Given the description of an element on the screen output the (x, y) to click on. 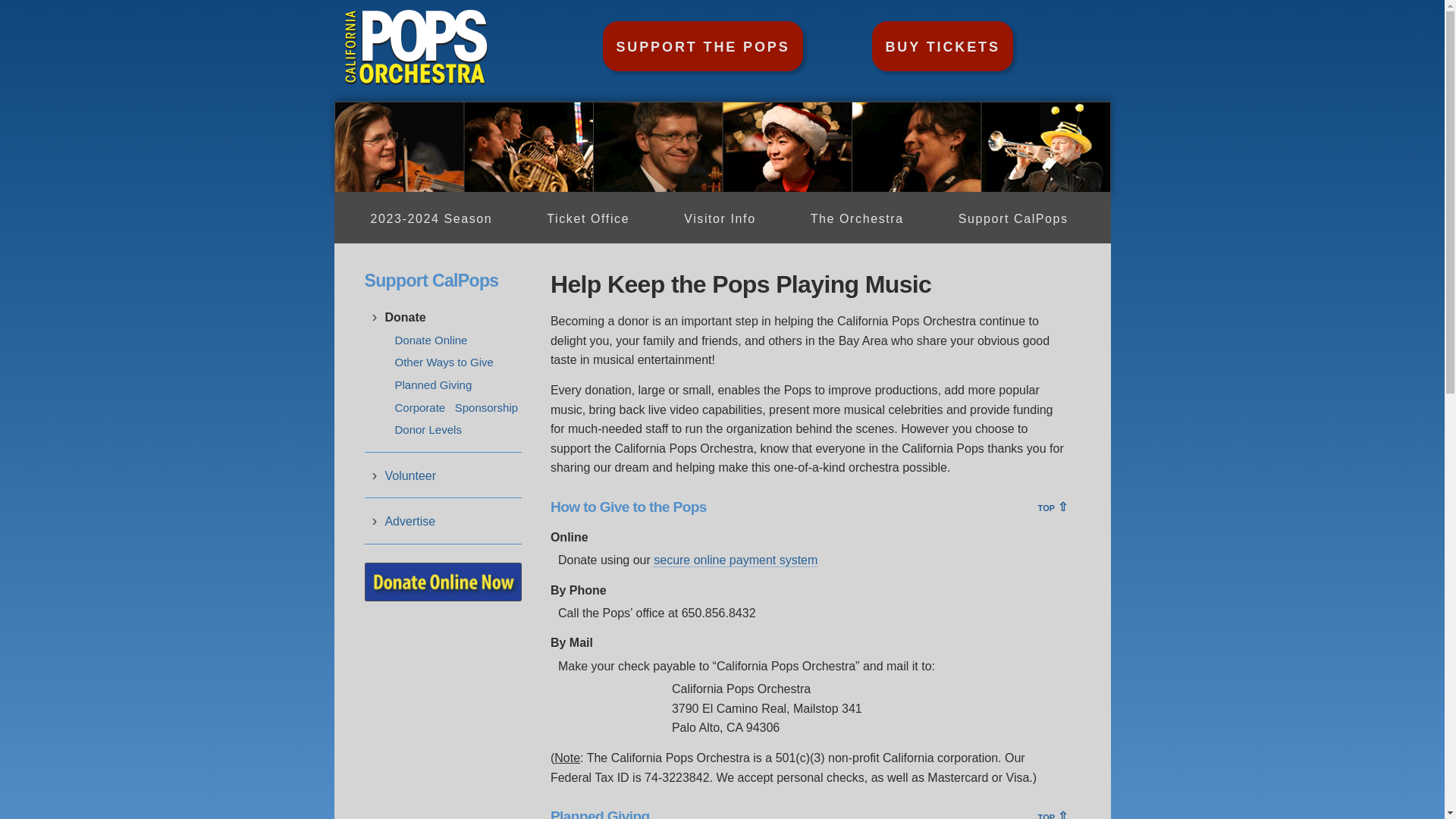
Ticket Office (587, 218)
Advertise (409, 521)
Planned Giving (432, 385)
This link opens a new browser window (734, 560)
Other Ways to Give (443, 362)
Donate Online (430, 340)
SUPPORT THE POPS (702, 46)
2023-2024 Season (430, 218)
The Orchestra (857, 218)
secure online payment system (734, 560)
BUY TICKETS (941, 46)
Support CalPops (1013, 218)
Visitor Info (719, 218)
Volunteer (409, 476)
Donor Levels (427, 429)
